Given the description of an element on the screen output the (x, y) to click on. 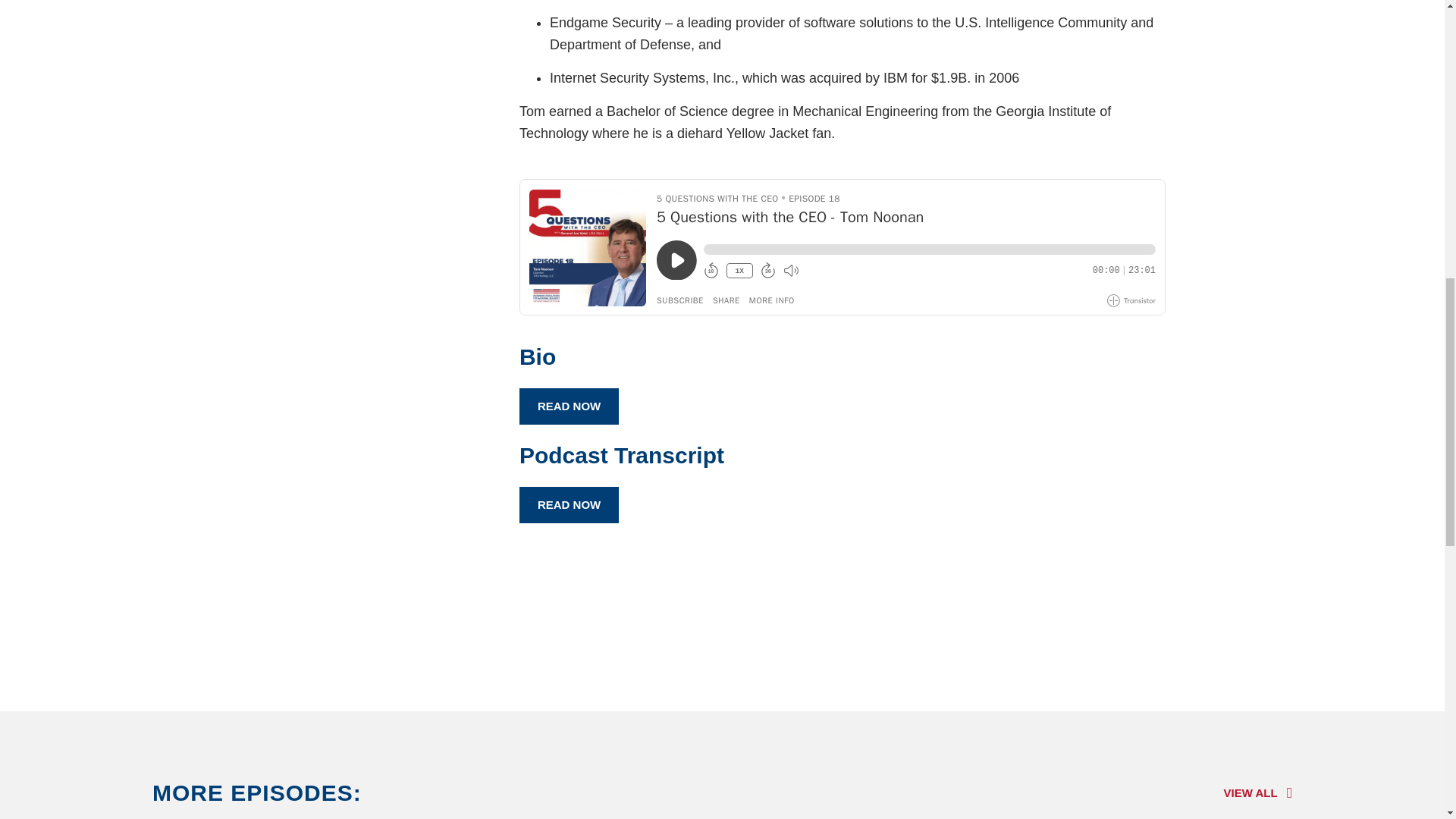
Spotify Listen Banner V2 275w (981, 617)
Google Podcasts Listen Banner V2 275w (721, 617)
Apple Podcasts Listen Banner 275w (462, 617)
